Given the description of an element on the screen output the (x, y) to click on. 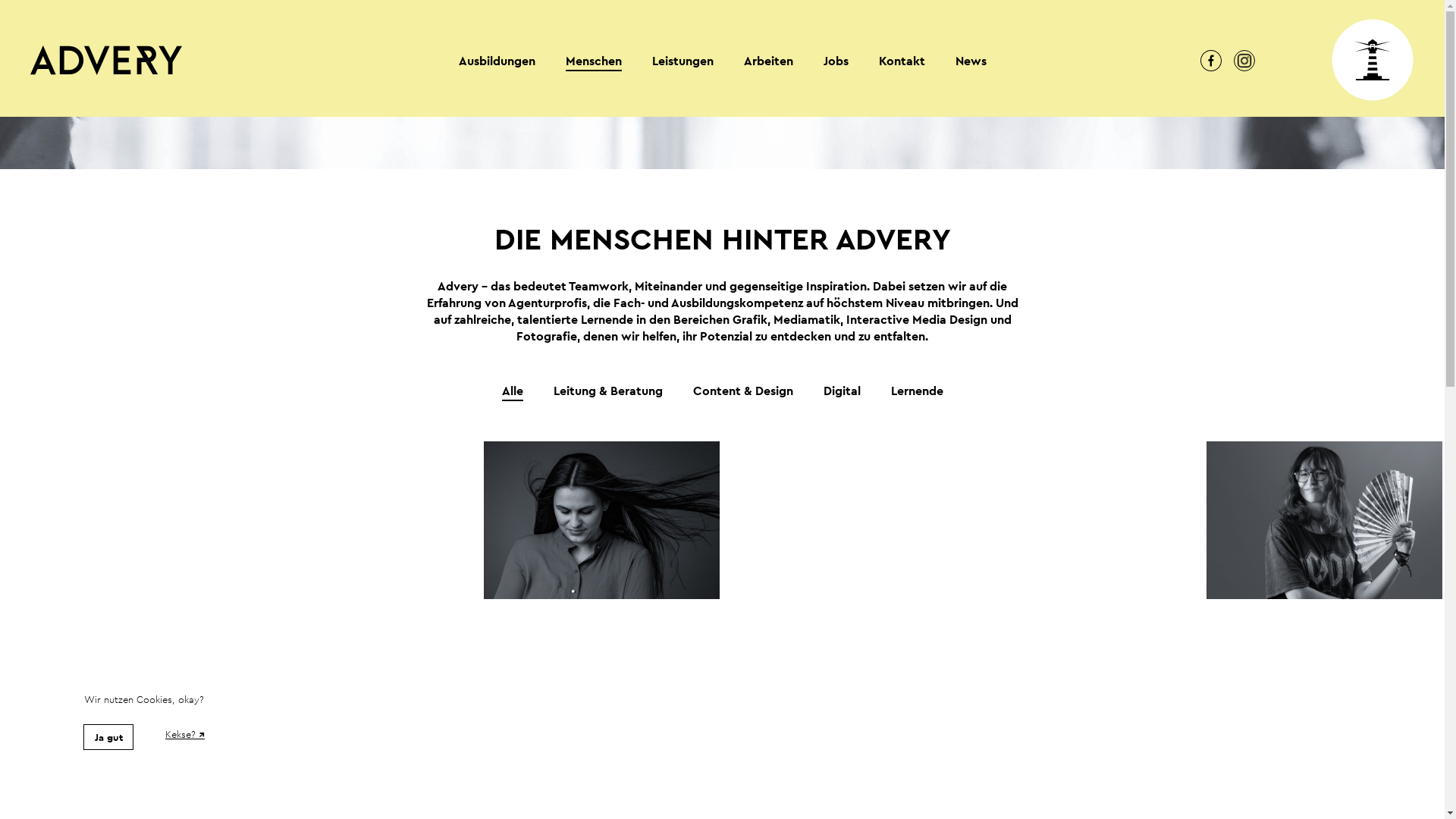
Arbeiten Element type: text (767, 61)
News Element type: text (970, 61)
Jobs Element type: text (835, 61)
Ausbildungen Element type: text (496, 61)
Kontakt Element type: text (901, 61)
Menschen Element type: text (593, 62)
Leistungen Element type: text (682, 61)
Kekse? Element type: text (184, 734)
